Given the description of an element on the screen output the (x, y) to click on. 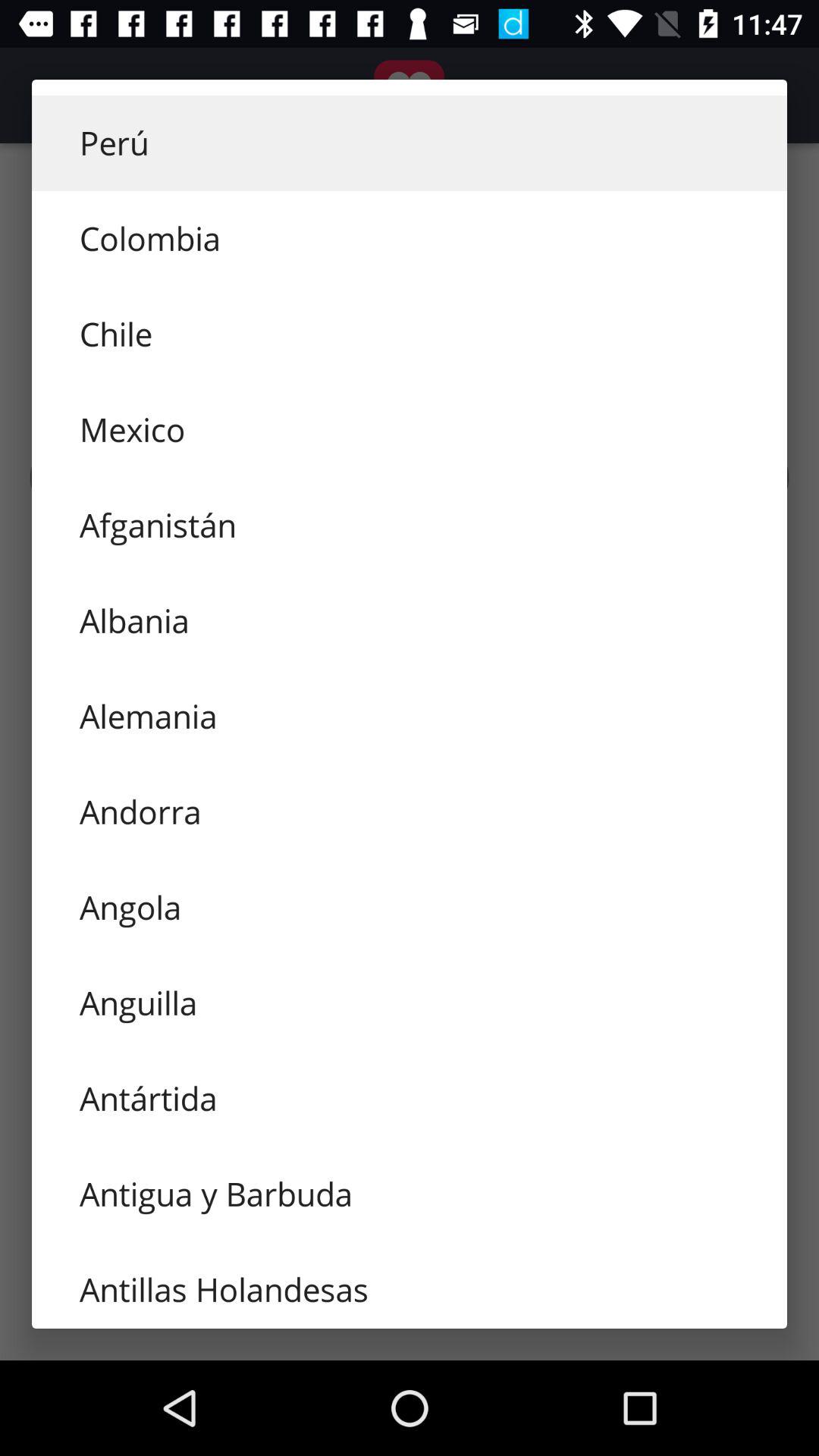
turn on mexico item (409, 429)
